Given the description of an element on the screen output the (x, y) to click on. 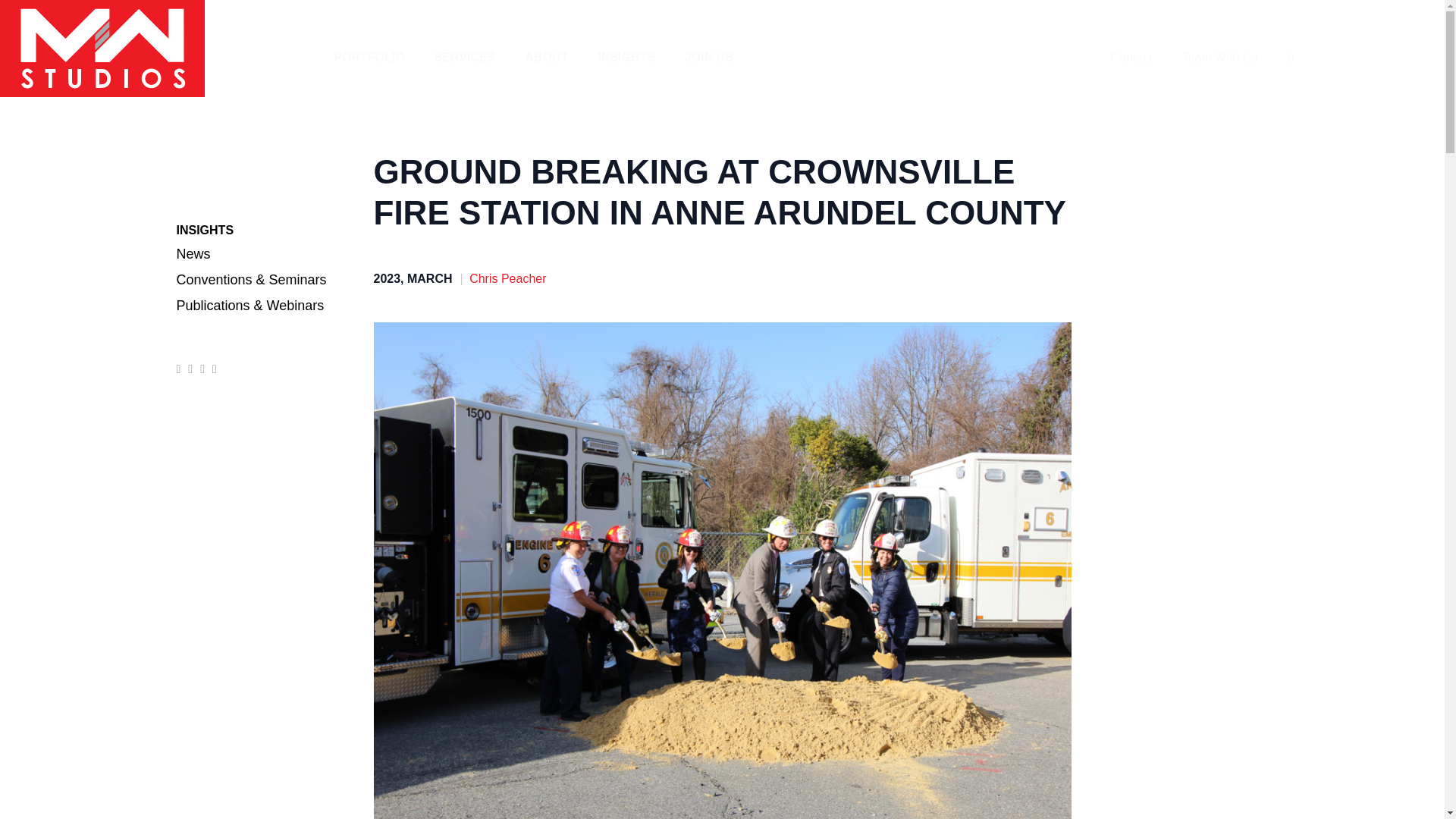
Posts by Chris Peacher (507, 278)
JOIN US (708, 58)
INSIGHTS (625, 58)
PORTFOLIO (368, 58)
Contact (1130, 58)
ABOUT (545, 58)
Team With Us (1219, 58)
SERVICES (464, 58)
